Given the description of an element on the screen output the (x, y) to click on. 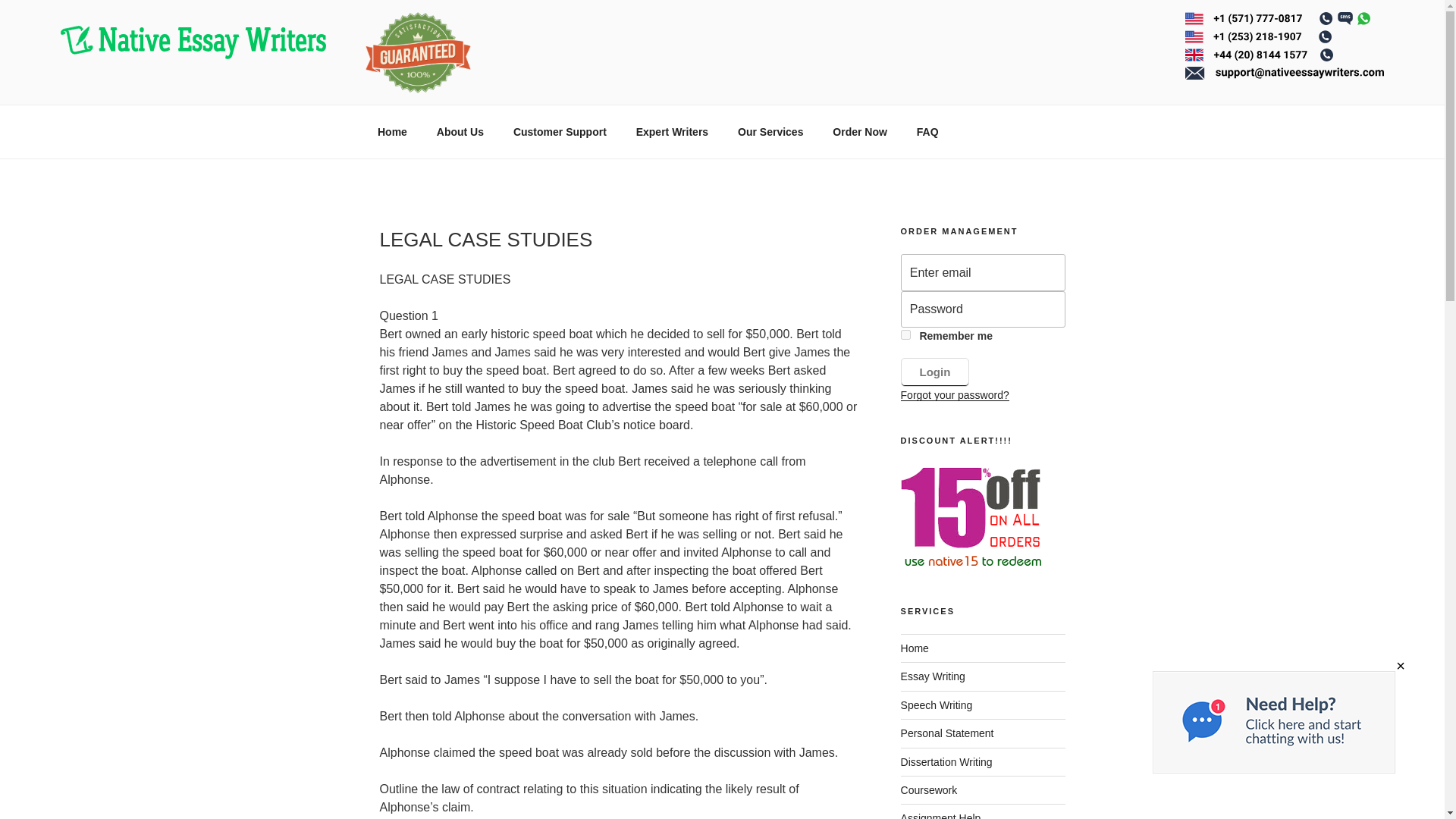
Expert Writers (671, 131)
Customer Support (559, 131)
Coursework (929, 789)
Personal Statement (947, 733)
Recover password (955, 395)
Assignment Help (941, 815)
Home (392, 131)
About Us (459, 131)
Login (935, 371)
on (906, 334)
FAQ (927, 131)
Our Services (770, 131)
Home (914, 648)
Essay Writing (933, 676)
Dissertation Writing (946, 761)
